Given the description of an element on the screen output the (x, y) to click on. 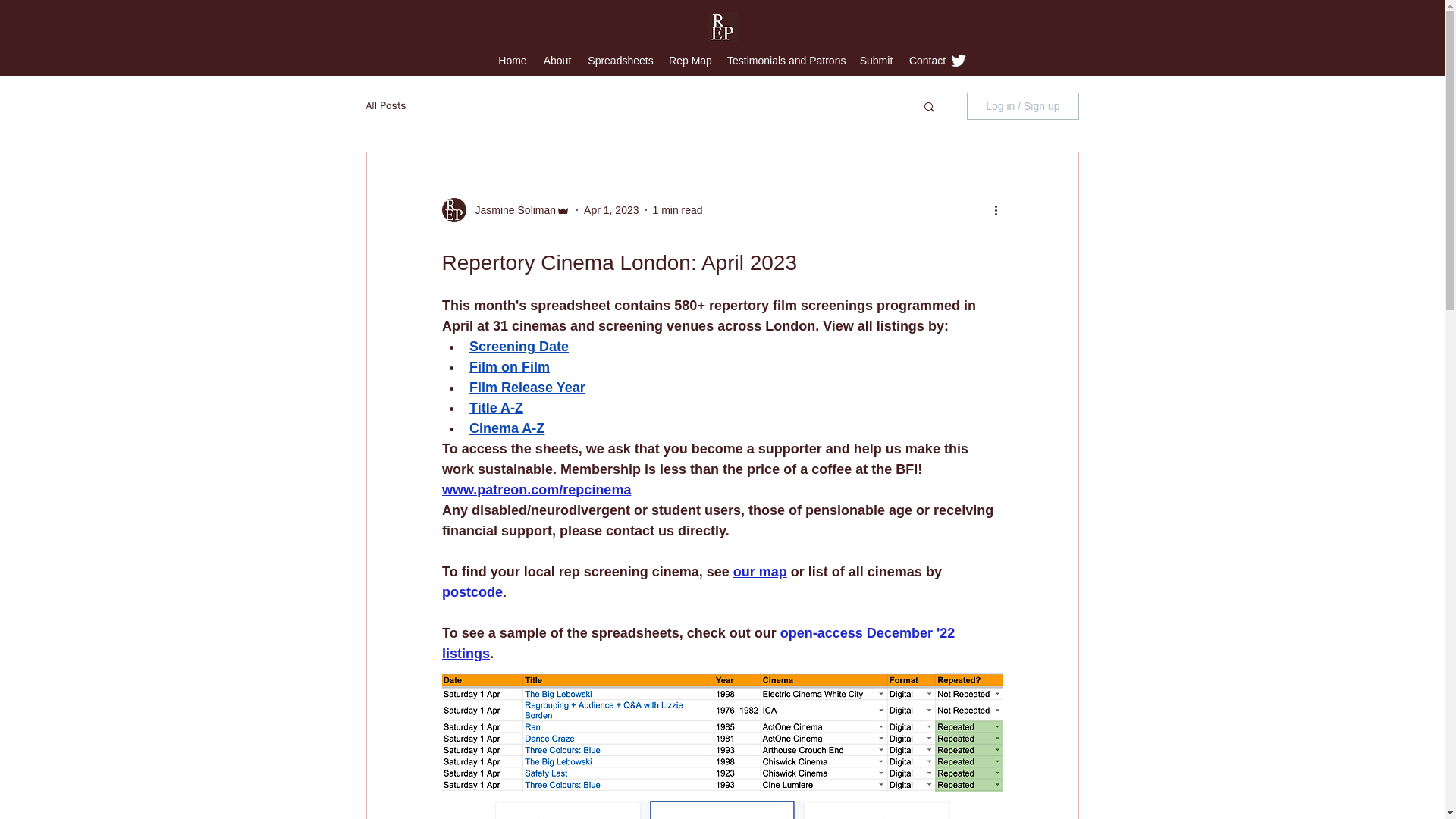
open-access December '22 listings (699, 642)
Spreadsheets (620, 60)
Rep Map (690, 60)
Jasmine Soliman (510, 209)
Film on Film (508, 366)
Submit (876, 60)
Cinema A-Z (505, 427)
our map (759, 571)
Testimonials and Patrons (785, 60)
All Posts (385, 106)
